Given the description of an element on the screen output the (x, y) to click on. 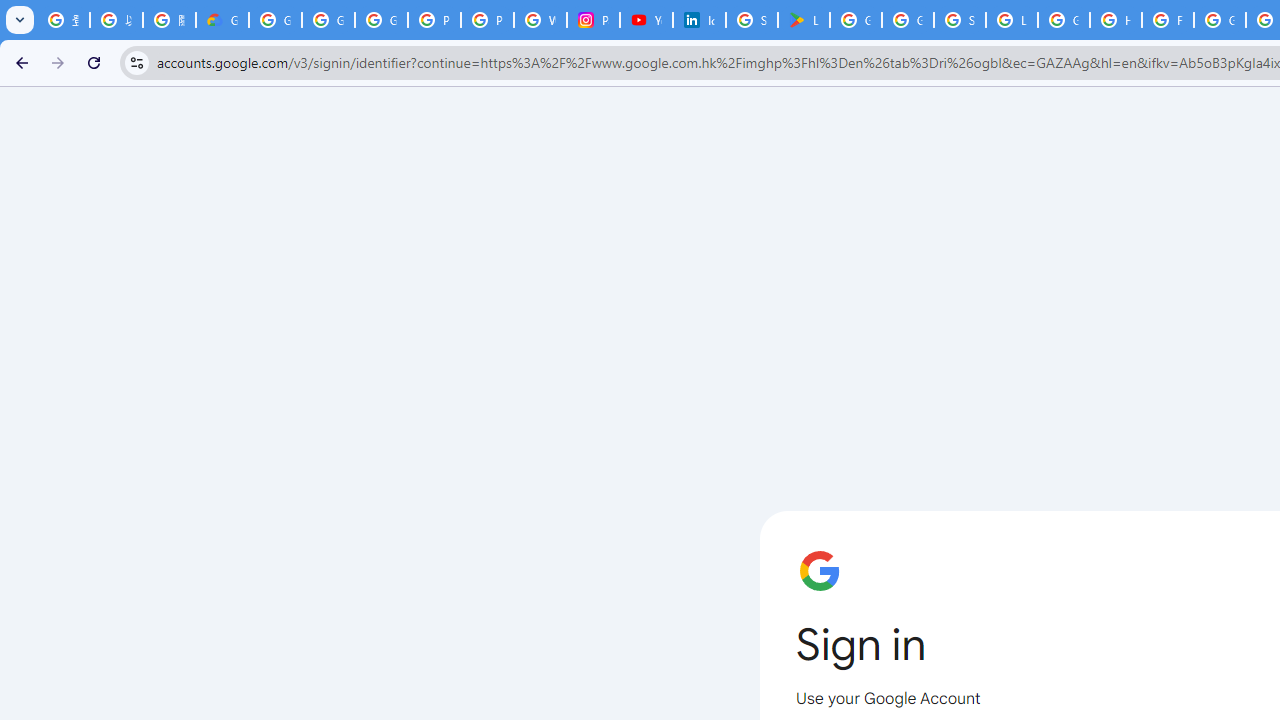
Google Workspace - Specific Terms (907, 20)
Sign in - Google Accounts (751, 20)
